Given the description of an element on the screen output the (x, y) to click on. 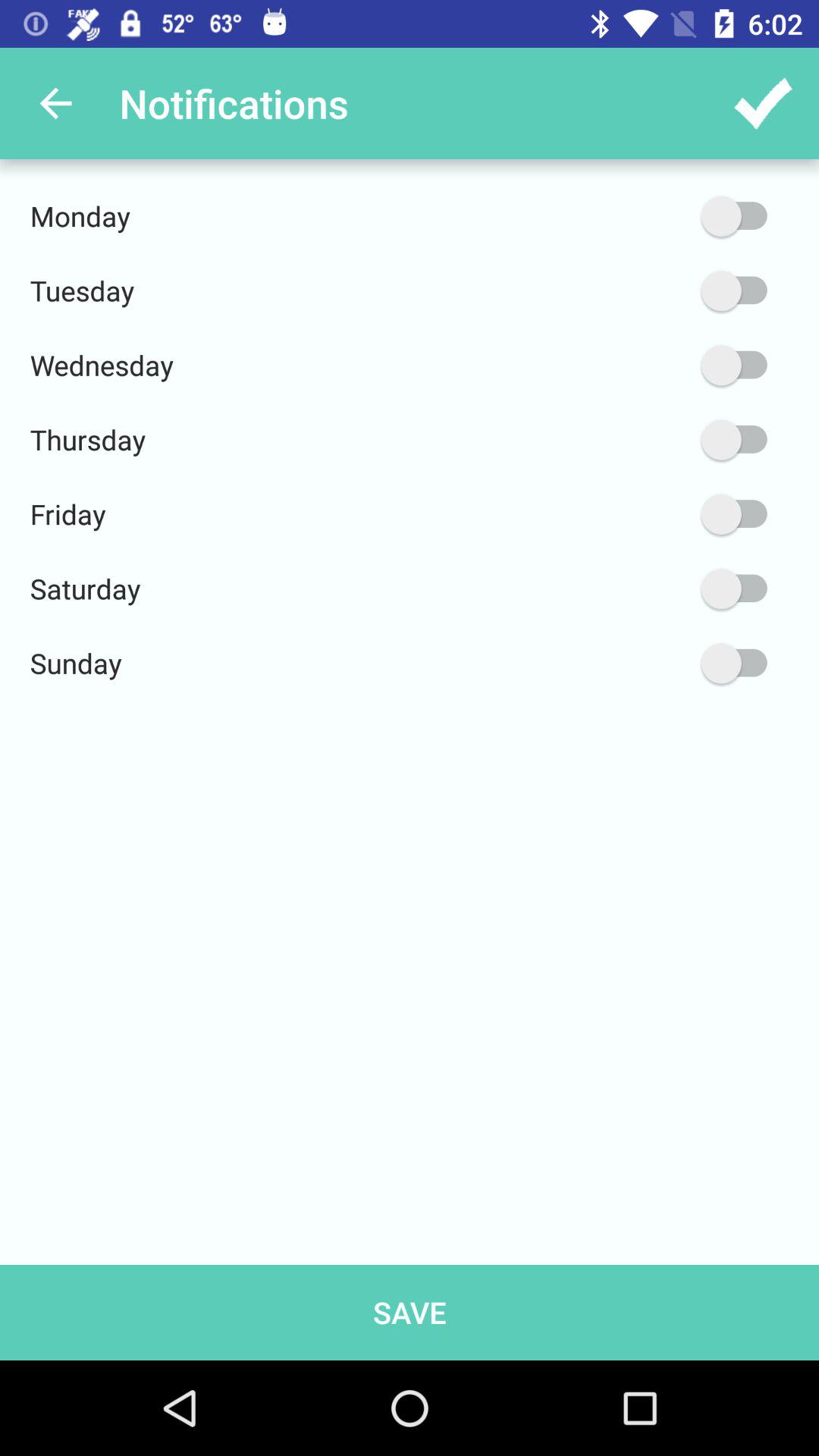
toggle on thursday (661, 439)
